Given the description of an element on the screen output the (x, y) to click on. 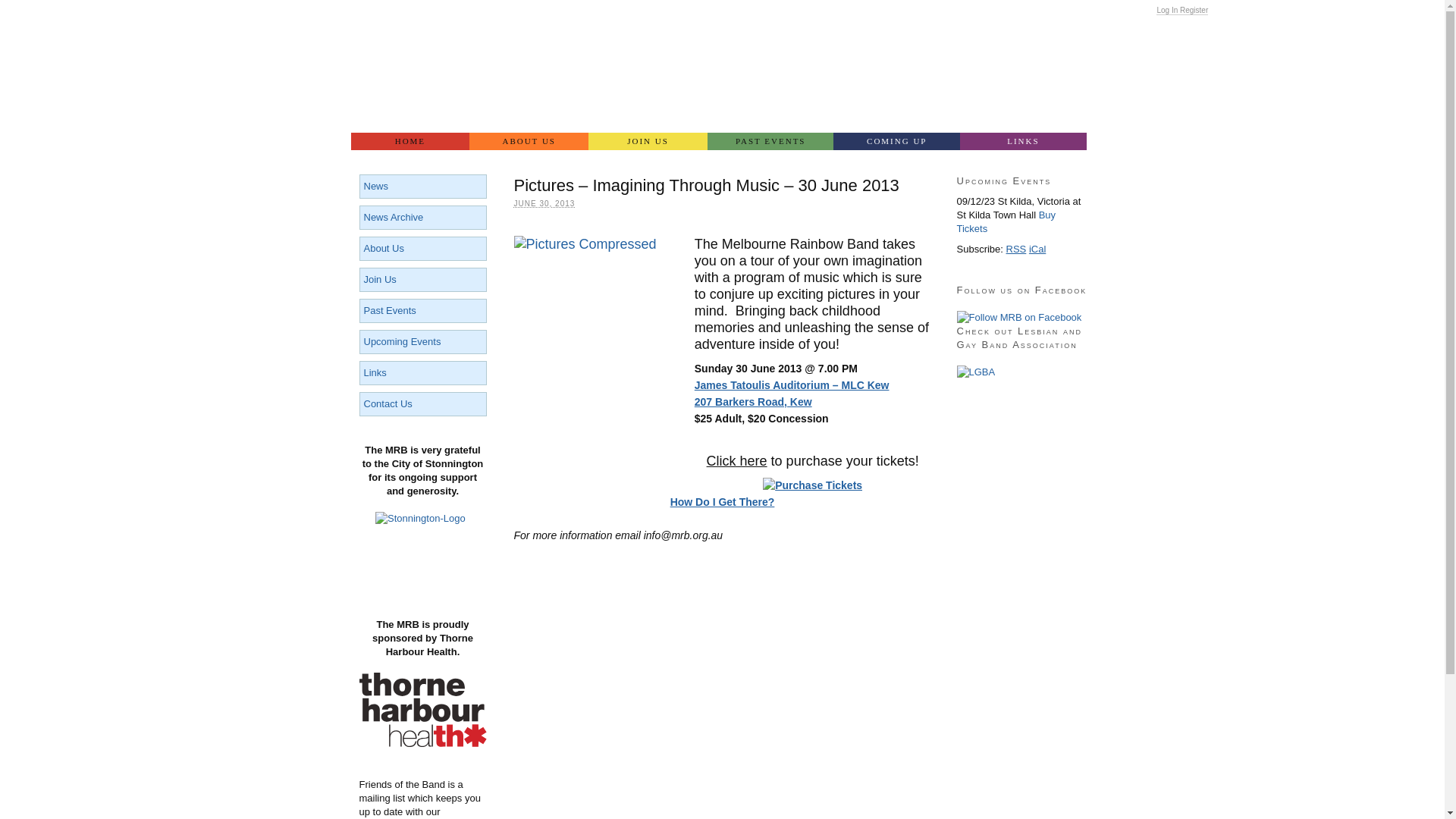
Click here Element type: text (736, 460)
Check out Lesbian and Gay Band Association Element type: hover (976, 372)
Buy Tickets Element type: text (1006, 221)
Log In Register Element type: text (1182, 10)
Upcoming Events Element type: text (402, 341)
RSS Element type: text (1016, 248)
HOME Element type: text (409, 141)
How Do I Get There? Element type: text (722, 501)
207 Barkers Road, Kew Element type: text (753, 401)
Pictures Compressed Element type: hover (593, 349)
News Archive Element type: text (393, 216)
JOIN US Element type: text (647, 141)
Links Element type: text (375, 372)
PAST EVENTS Element type: text (770, 141)
COMING UP Element type: text (896, 141)
About Us Element type: text (384, 248)
Past Events Element type: text (390, 310)
News Element type: text (376, 185)
Thorne Harbour Health Element type: text (422, 743)
Follow MRB on Facebook Element type: hover (1019, 317)
Join Us Element type: text (380, 279)
iCal Element type: text (1037, 248)
LINKS Element type: text (1023, 141)
ABOUT US Element type: text (528, 141)
Contact Us Element type: text (388, 403)
